Given the description of an element on the screen output the (x, y) to click on. 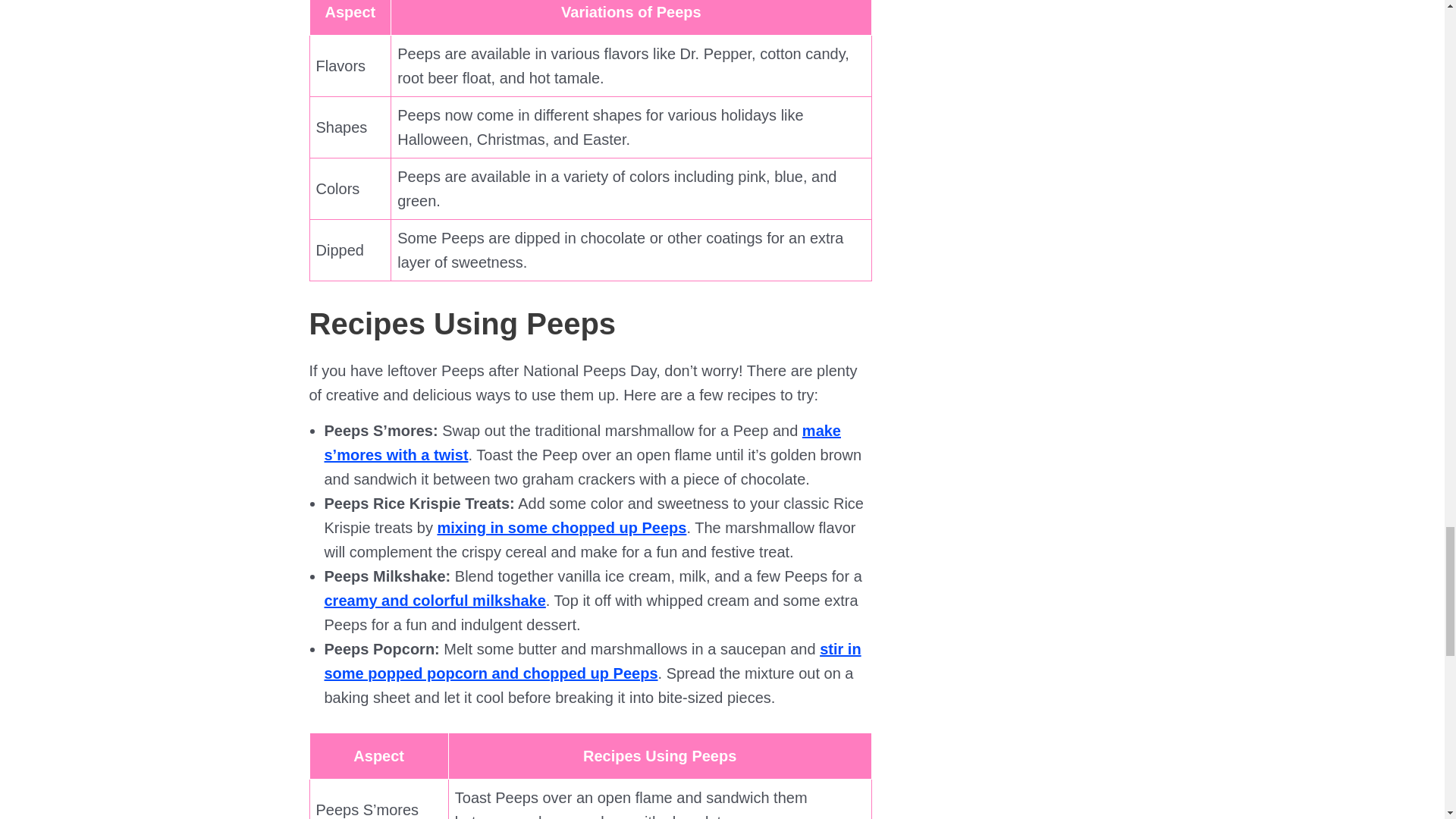
stir in some popped popcorn and chopped up Peeps (592, 660)
mixing in some chopped up Peeps (560, 527)
creamy and colorful milkshake (435, 600)
